Given the description of an element on the screen output the (x, y) to click on. 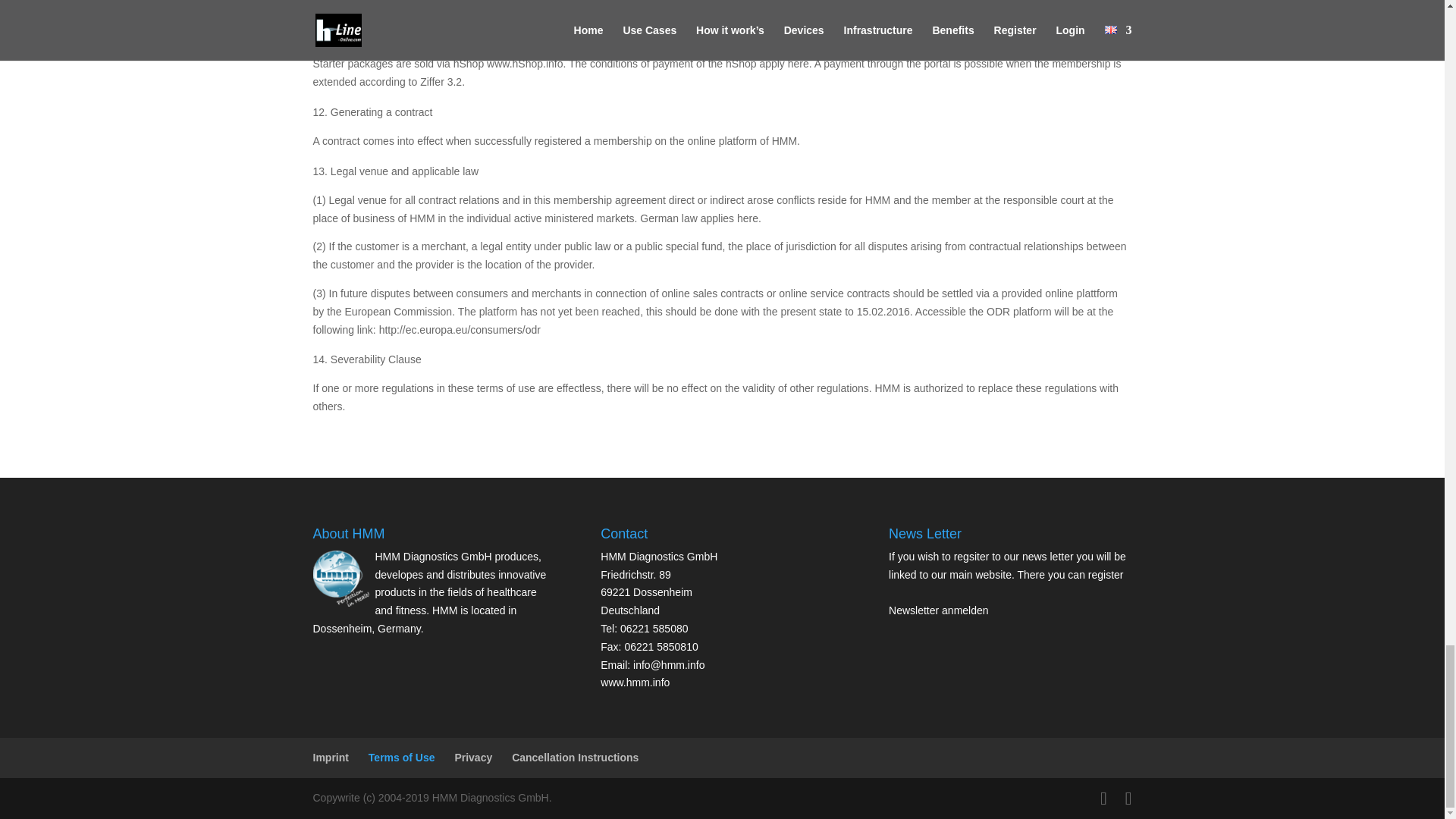
www.hmm.info (634, 682)
Privacy (473, 757)
Cancellation Instructions (575, 757)
Terms of Use (401, 757)
Newsletter anmelden (938, 610)
Imprint (330, 757)
